Given the description of an element on the screen output the (x, y) to click on. 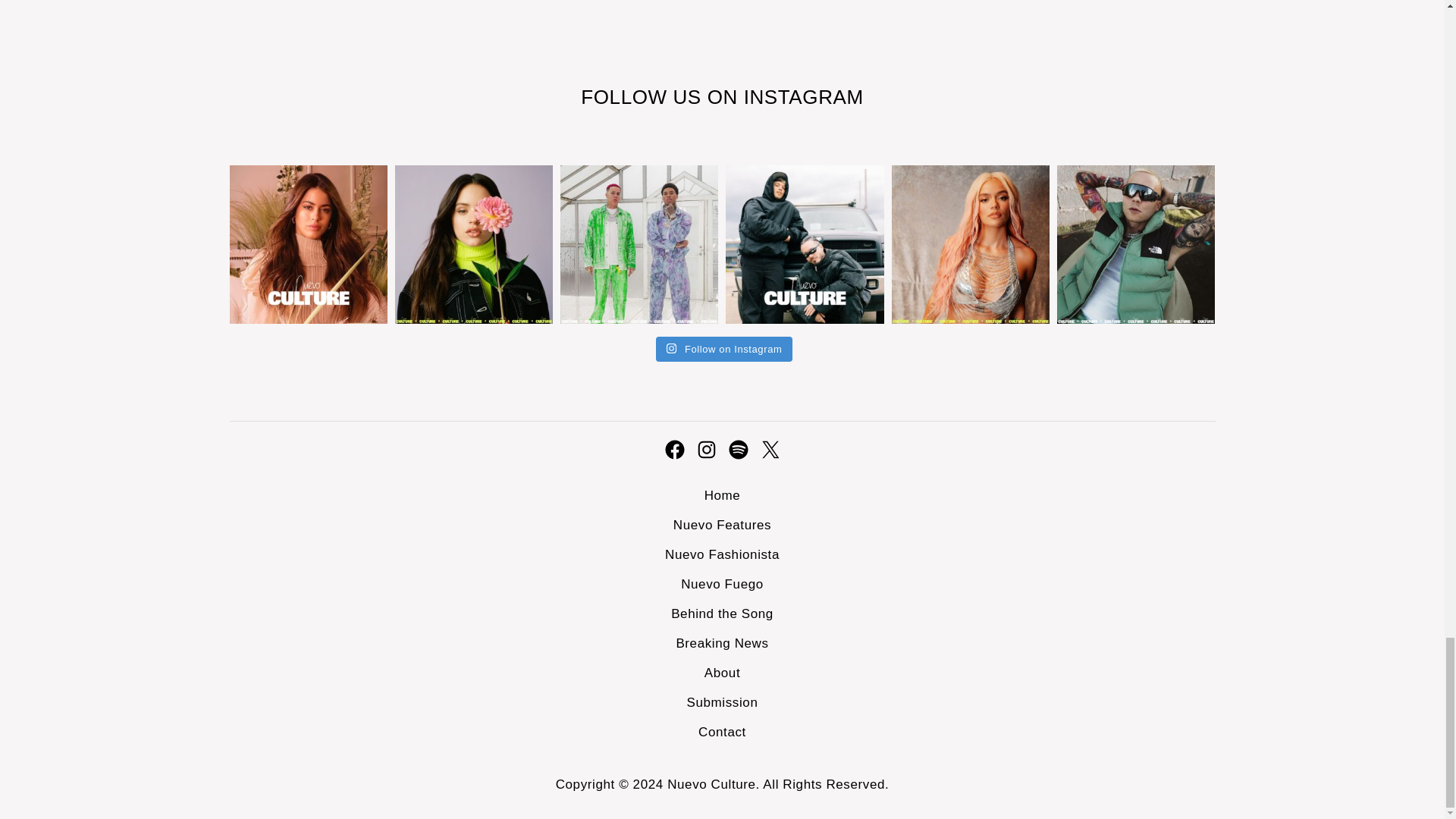
FOLLOW US ON  (661, 96)
